Given the description of an element on the screen output the (x, y) to click on. 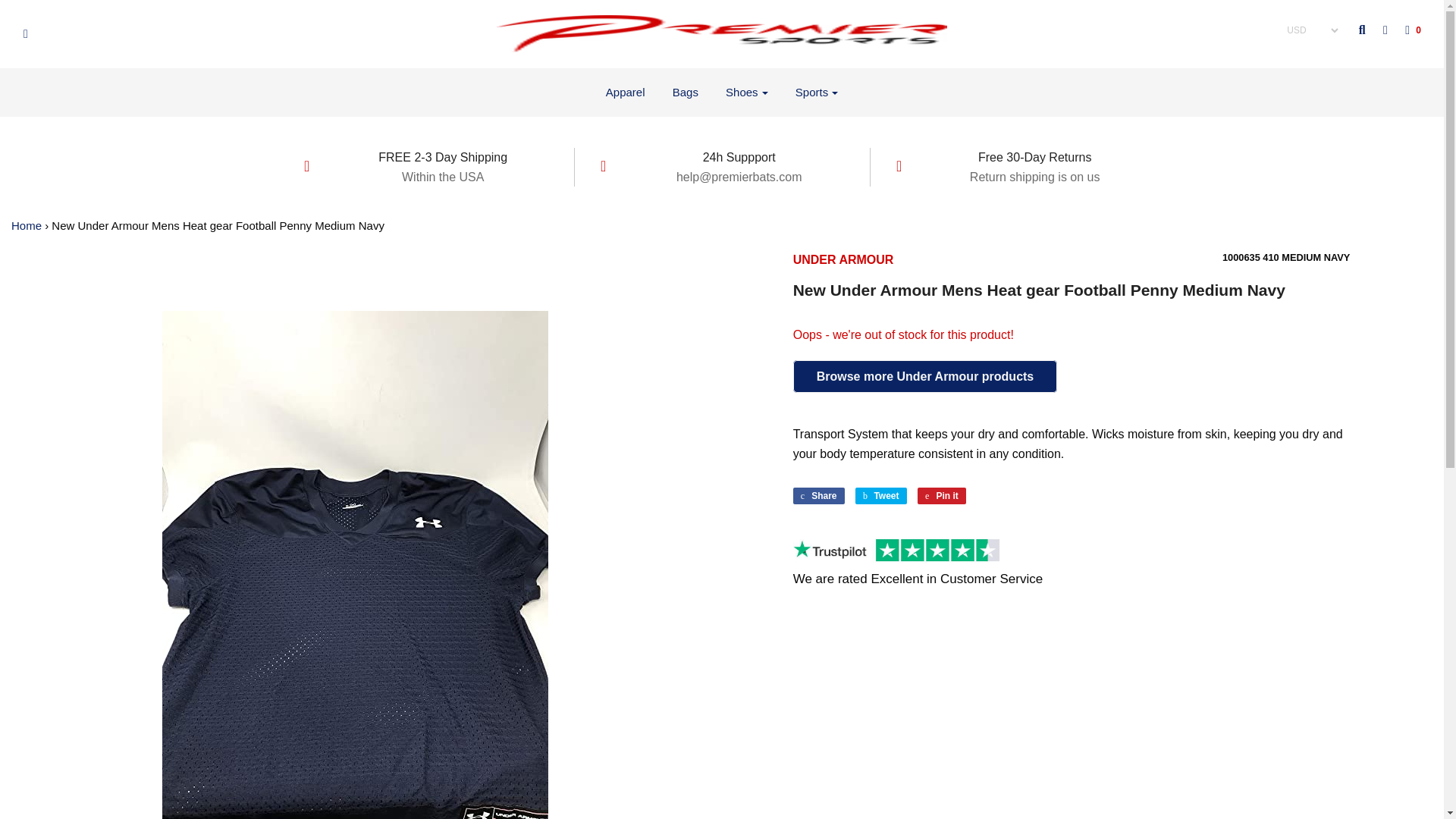
Shoes (746, 92)
Back to the frontpage (26, 225)
Under Armour (843, 259)
Bags (685, 92)
Cart (1405, 30)
Log in (1377, 30)
0 (1405, 30)
Apparel (625, 92)
